Given the description of an element on the screen output the (x, y) to click on. 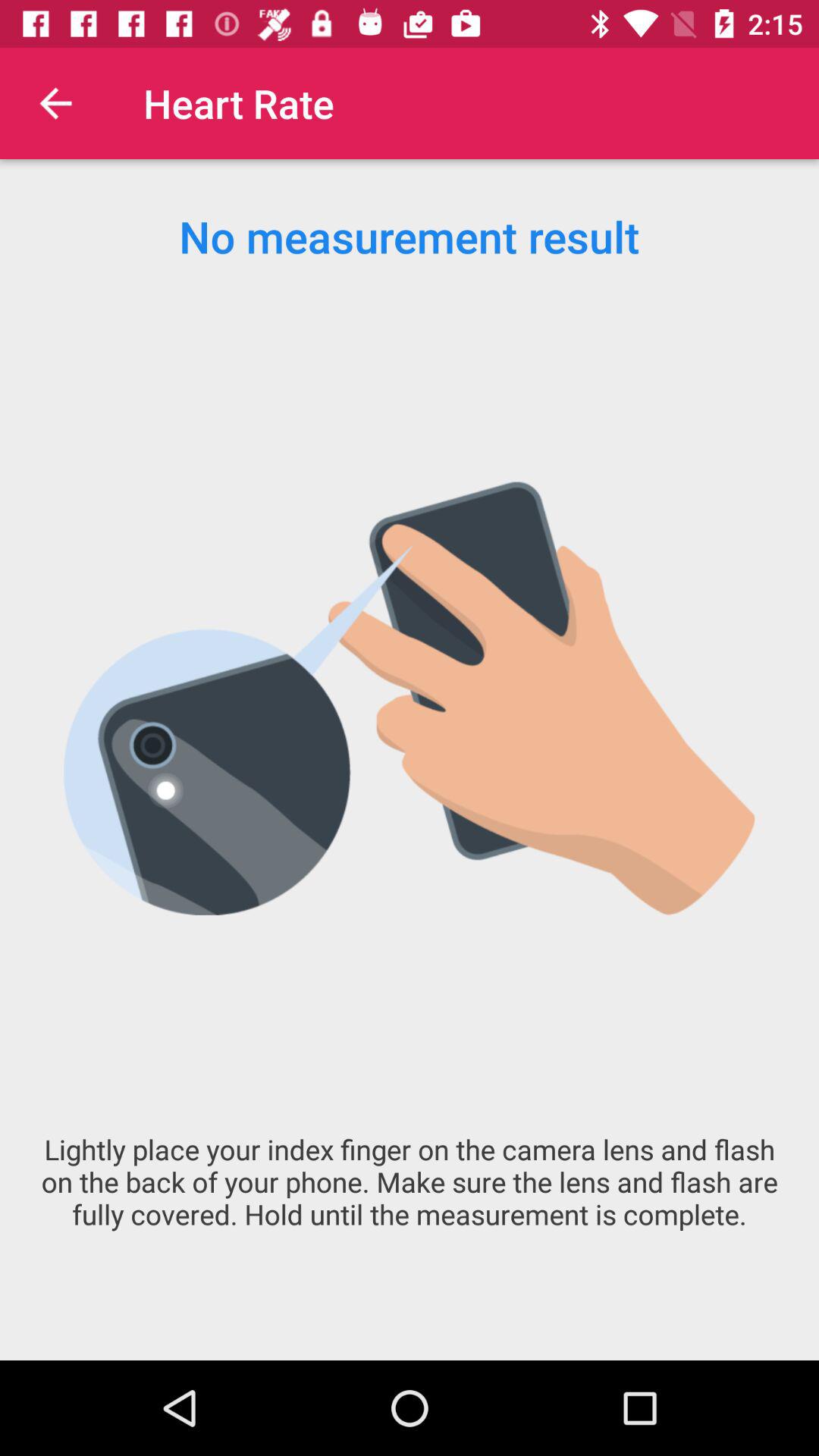
turn off the icon above the no measurement result (55, 103)
